Given the description of an element on the screen output the (x, y) to click on. 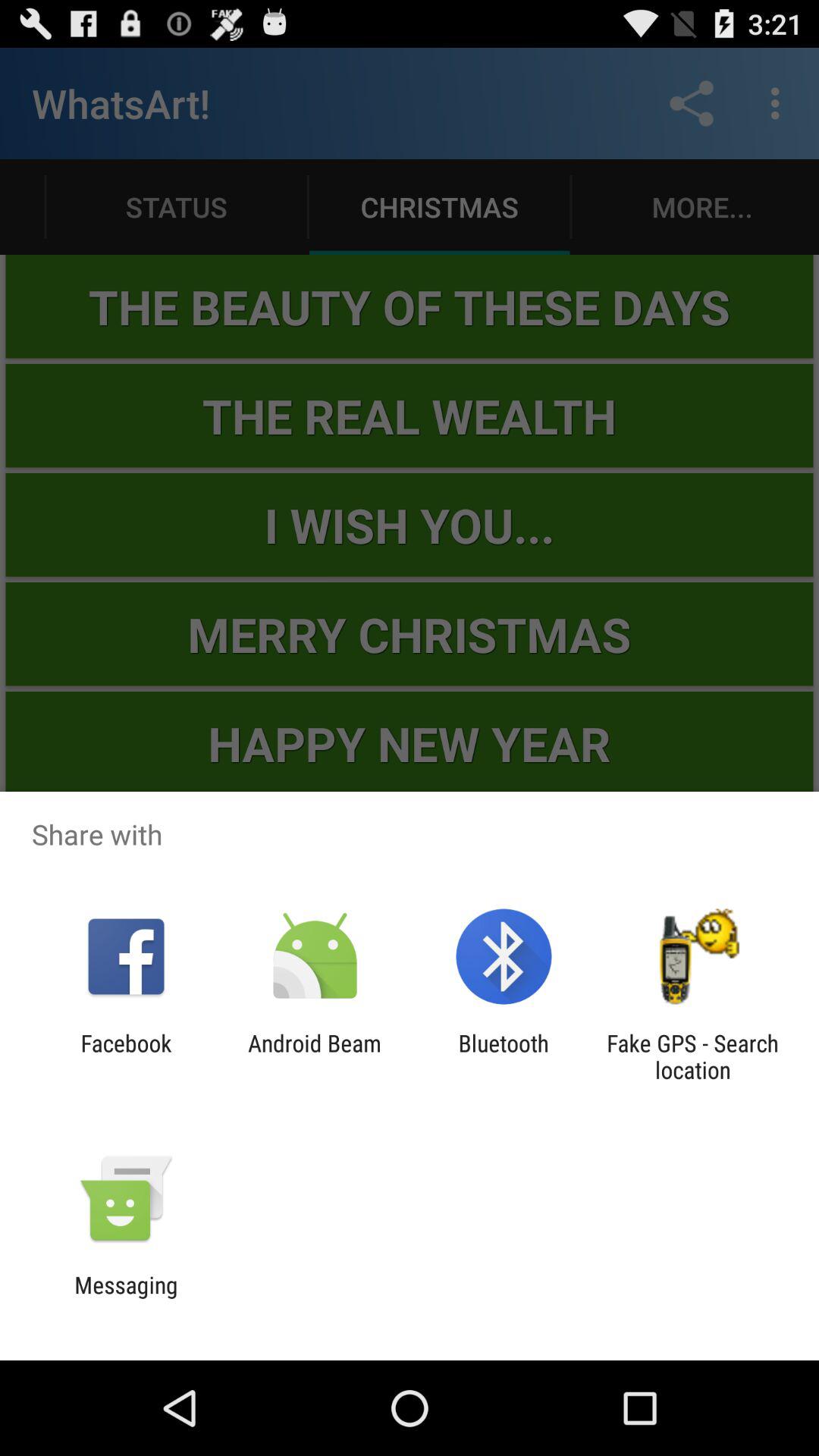
select icon next to bluetooth icon (692, 1056)
